Given the description of an element on the screen output the (x, y) to click on. 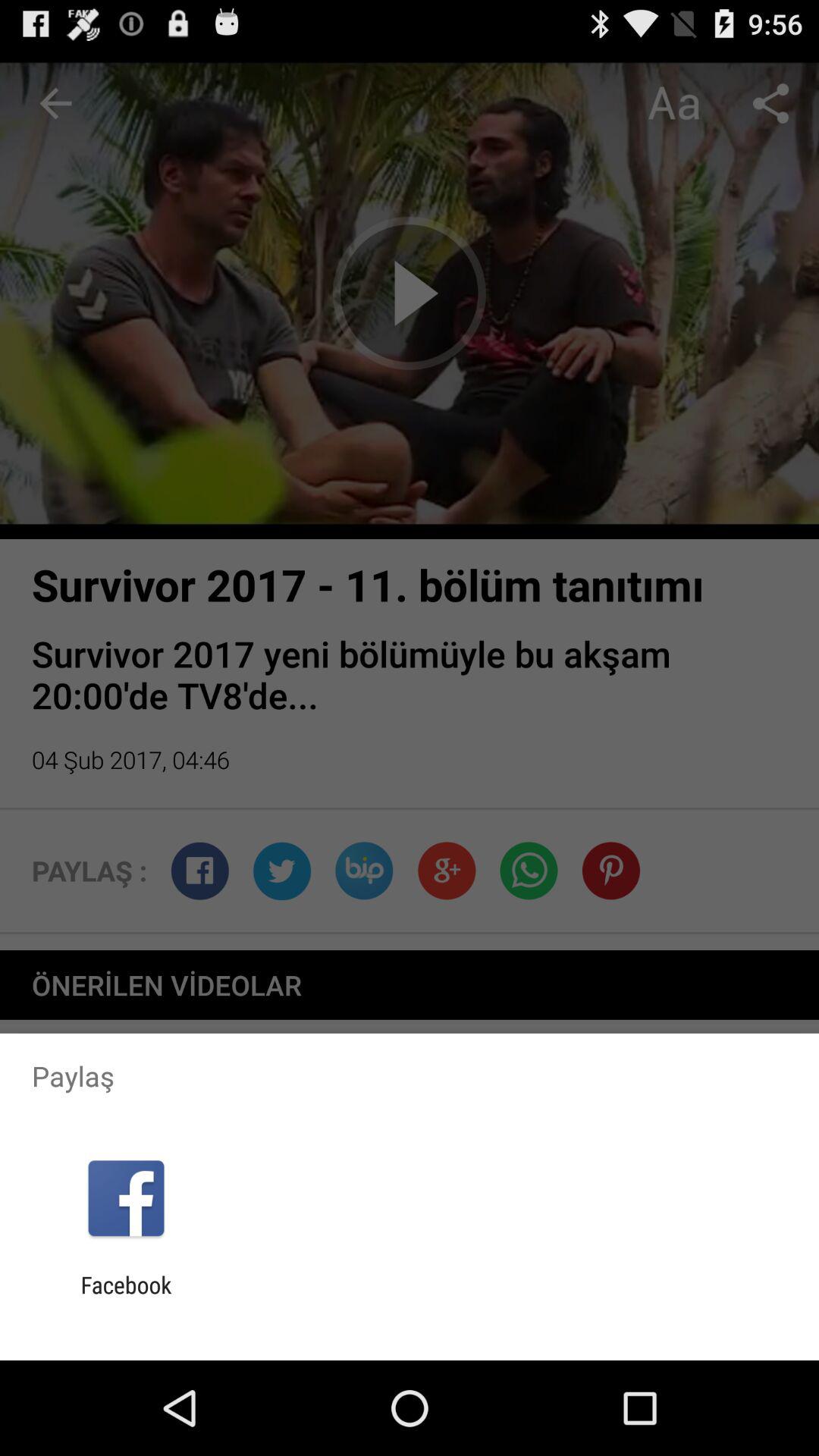
scroll until the facebook app (125, 1298)
